Given the description of an element on the screen output the (x, y) to click on. 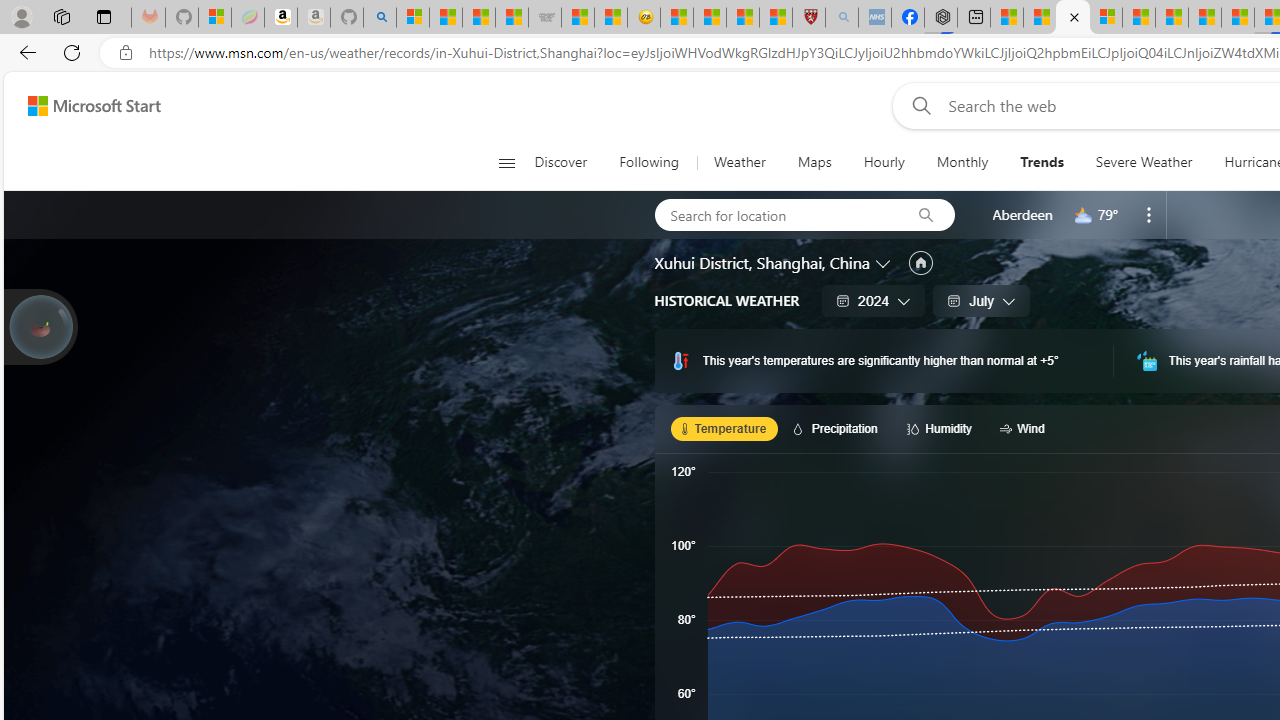
Maps (814, 162)
2024 (873, 300)
Join us in planting real trees to help our planet! (40, 327)
Remove location (1149, 214)
Change location (884, 262)
Wind (1025, 428)
Join us in planting real trees to help our planet! (40, 325)
Recipes - MSN (676, 17)
Robert H. Shmerling, MD - Harvard Health (808, 17)
